Given the description of an element on the screen output the (x, y) to click on. 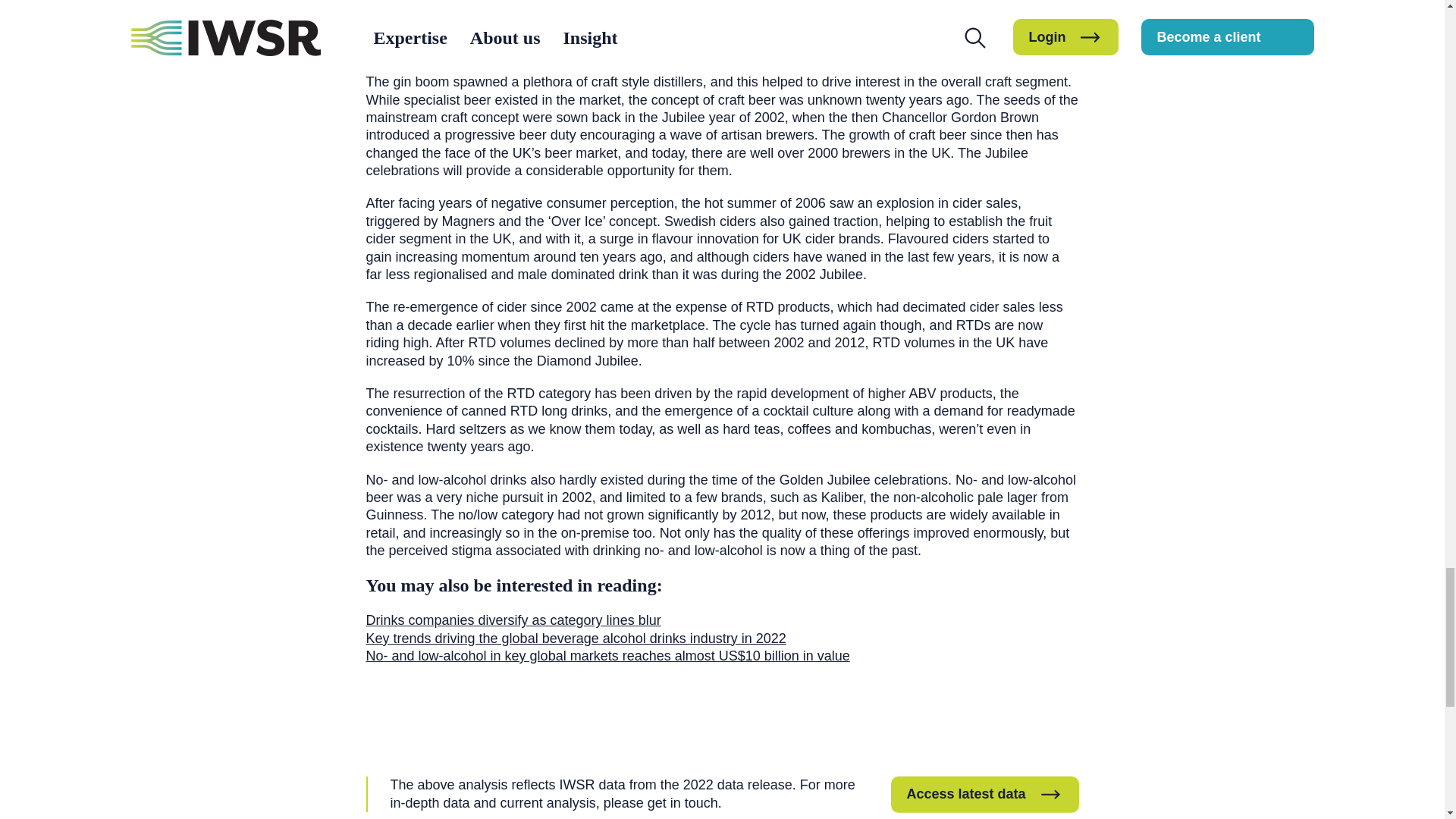
Drinks companies diversify as category lines blur (513, 620)
Access latest data (984, 793)
